Given the description of an element on the screen output the (x, y) to click on. 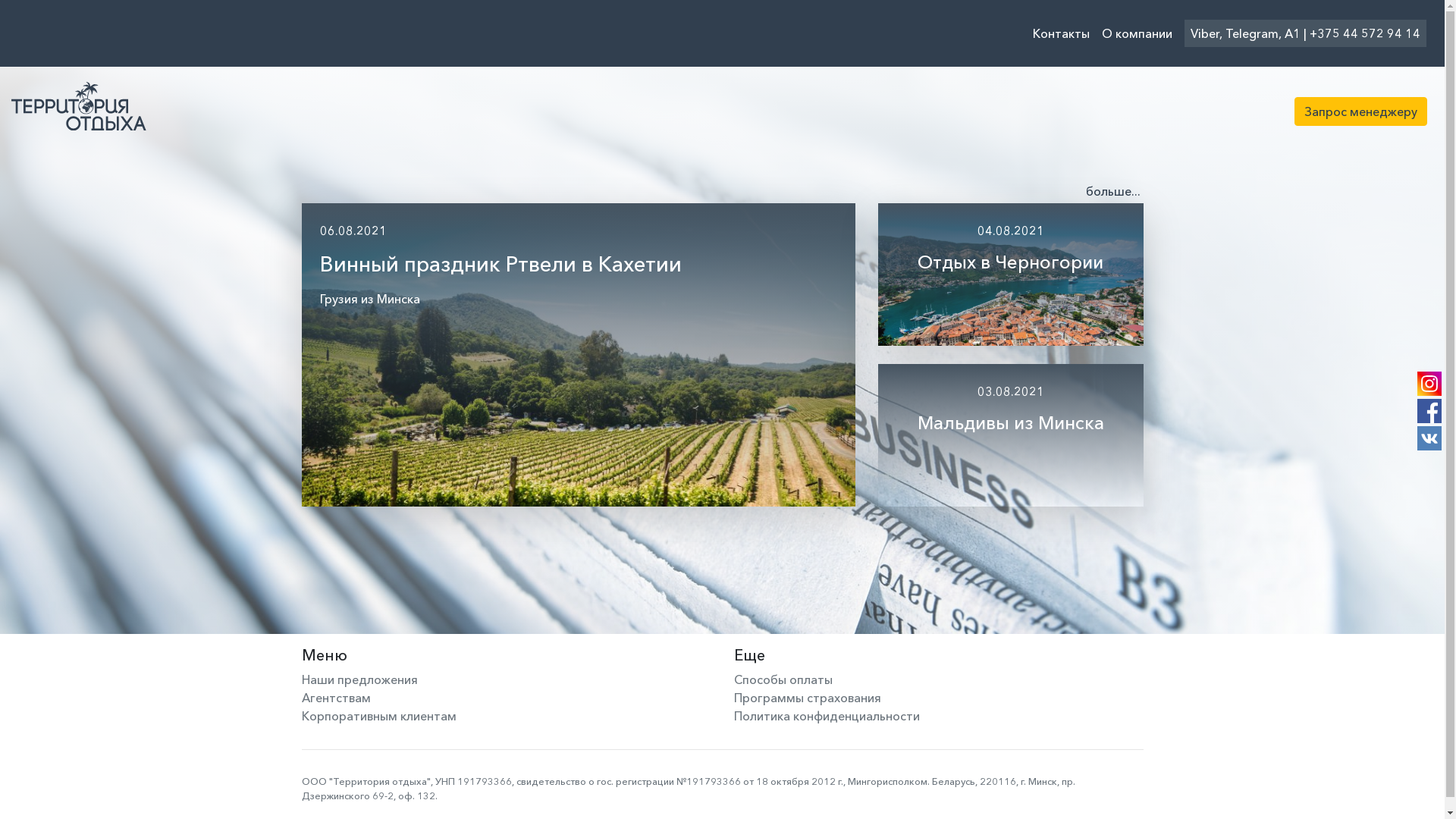
+375 44 572 94 14 Element type: text (1364, 32)
Instagram Element type: hover (1429, 383)
Facebook Element type: hover (1429, 410)
Telegram Element type: text (1251, 32)
  Element type: text (321, 316)
Viber Element type: text (1204, 32)
Vkontakte Element type: hover (1429, 438)
